Given the description of an element on the screen output the (x, y) to click on. 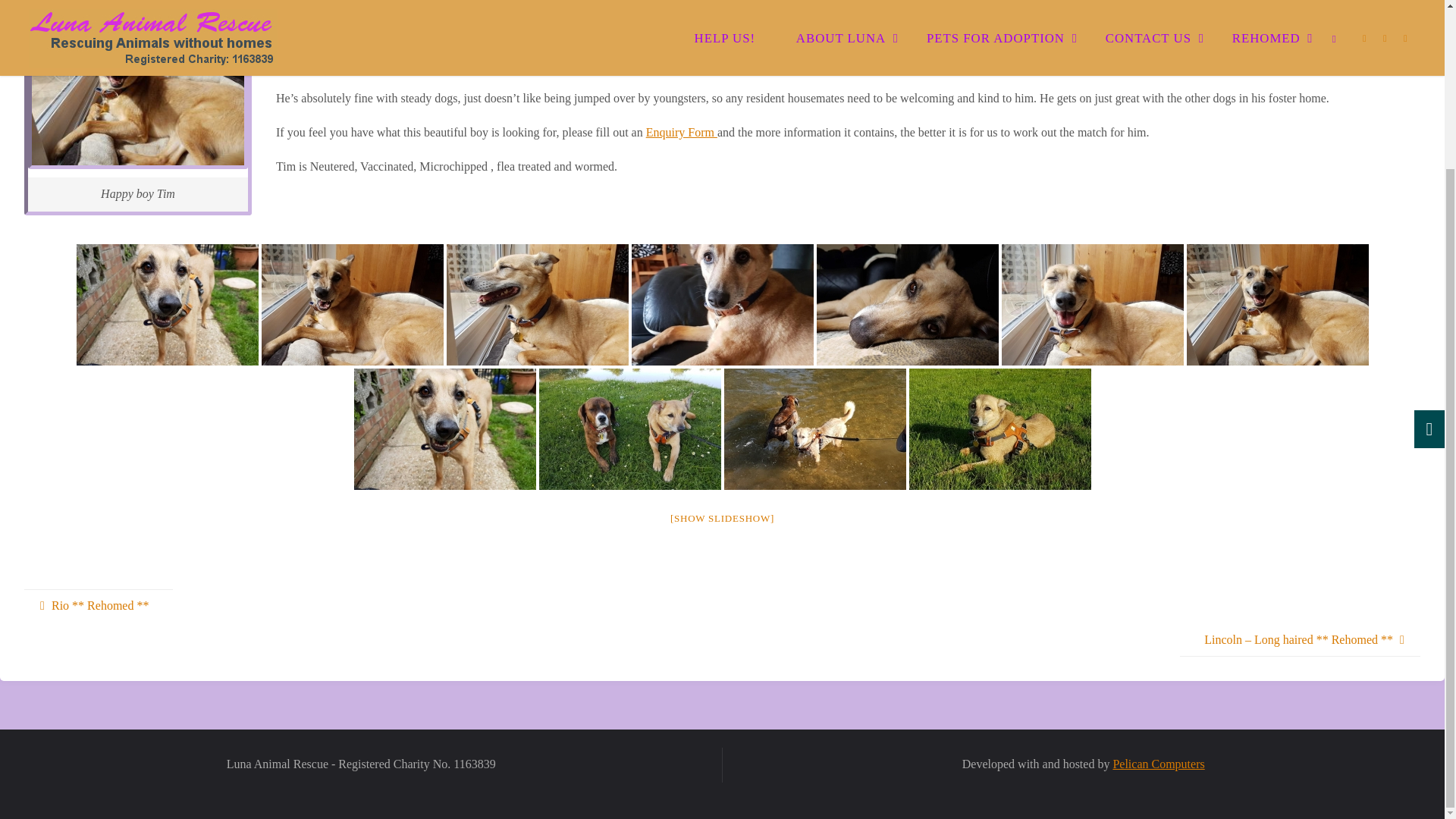
Tim-Profile (166, 303)
tim-6 (536, 303)
Tim-5 (721, 303)
Tim-smiling (351, 303)
Tim-3-1 (906, 303)
